Given the description of an element on the screen output the (x, y) to click on. 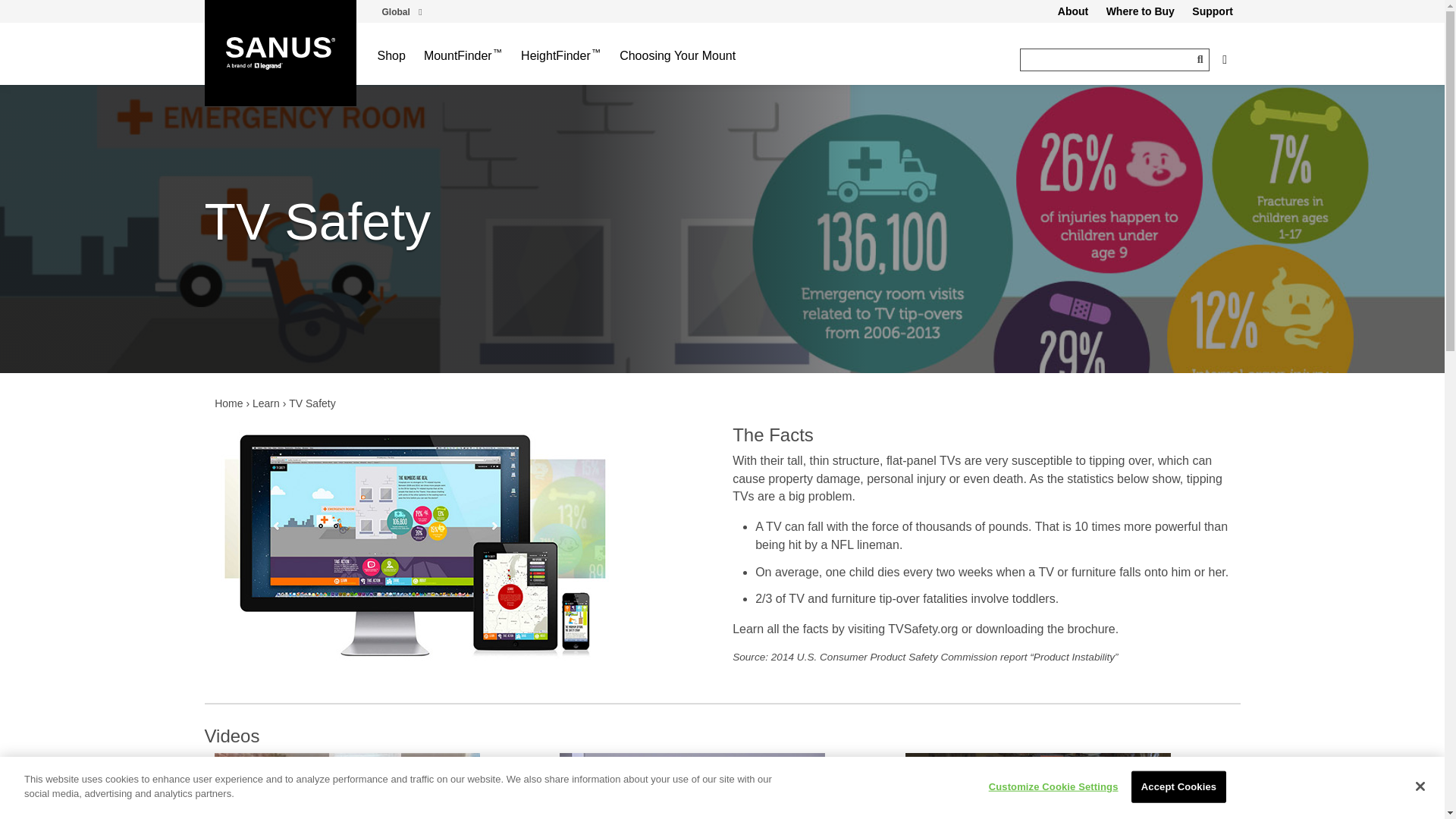
SANUS (280, 53)
About (1071, 11)
Support (1212, 11)
Where to Buy (1139, 11)
